Given the description of an element on the screen output the (x, y) to click on. 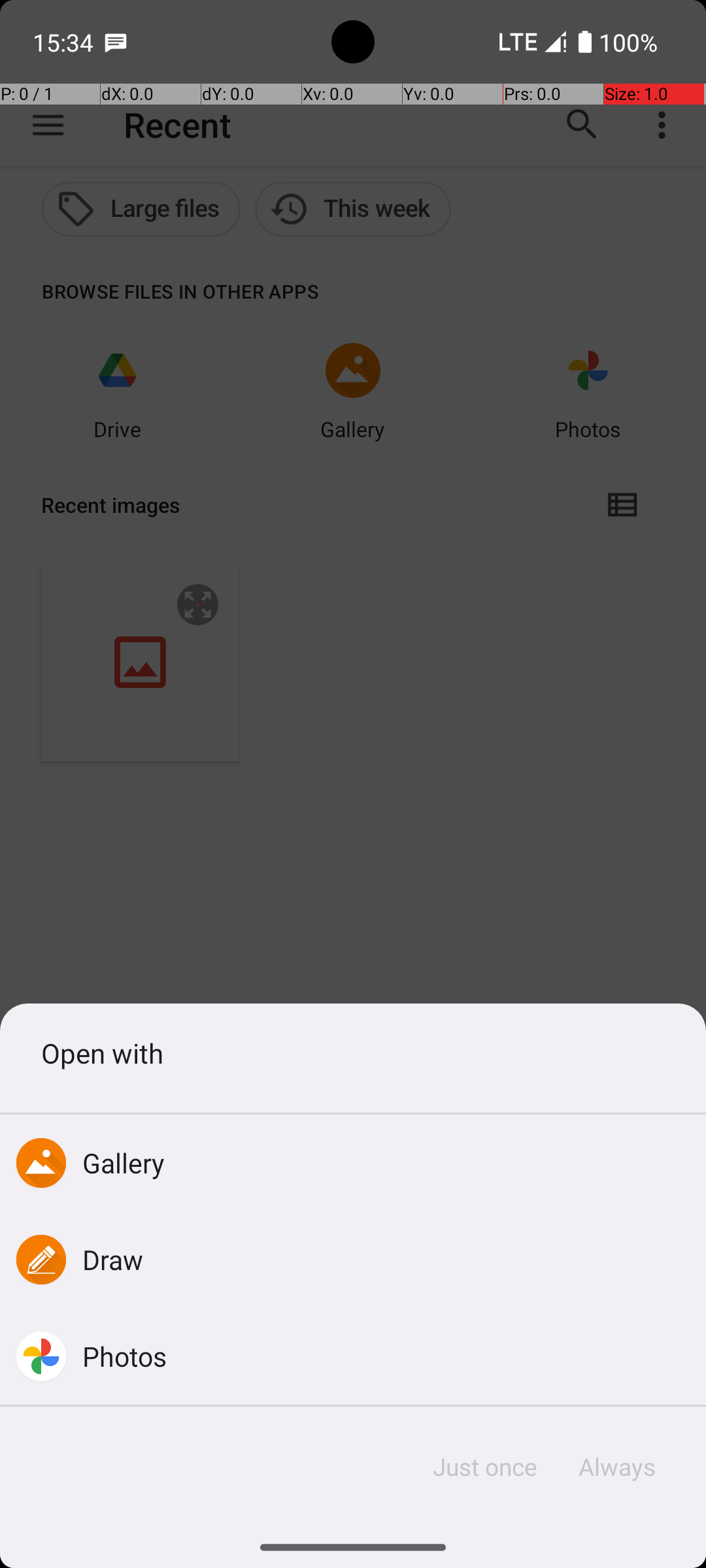
Draw Element type: android.widget.TextView (112, 1258)
